Given the description of an element on the screen output the (x, y) to click on. 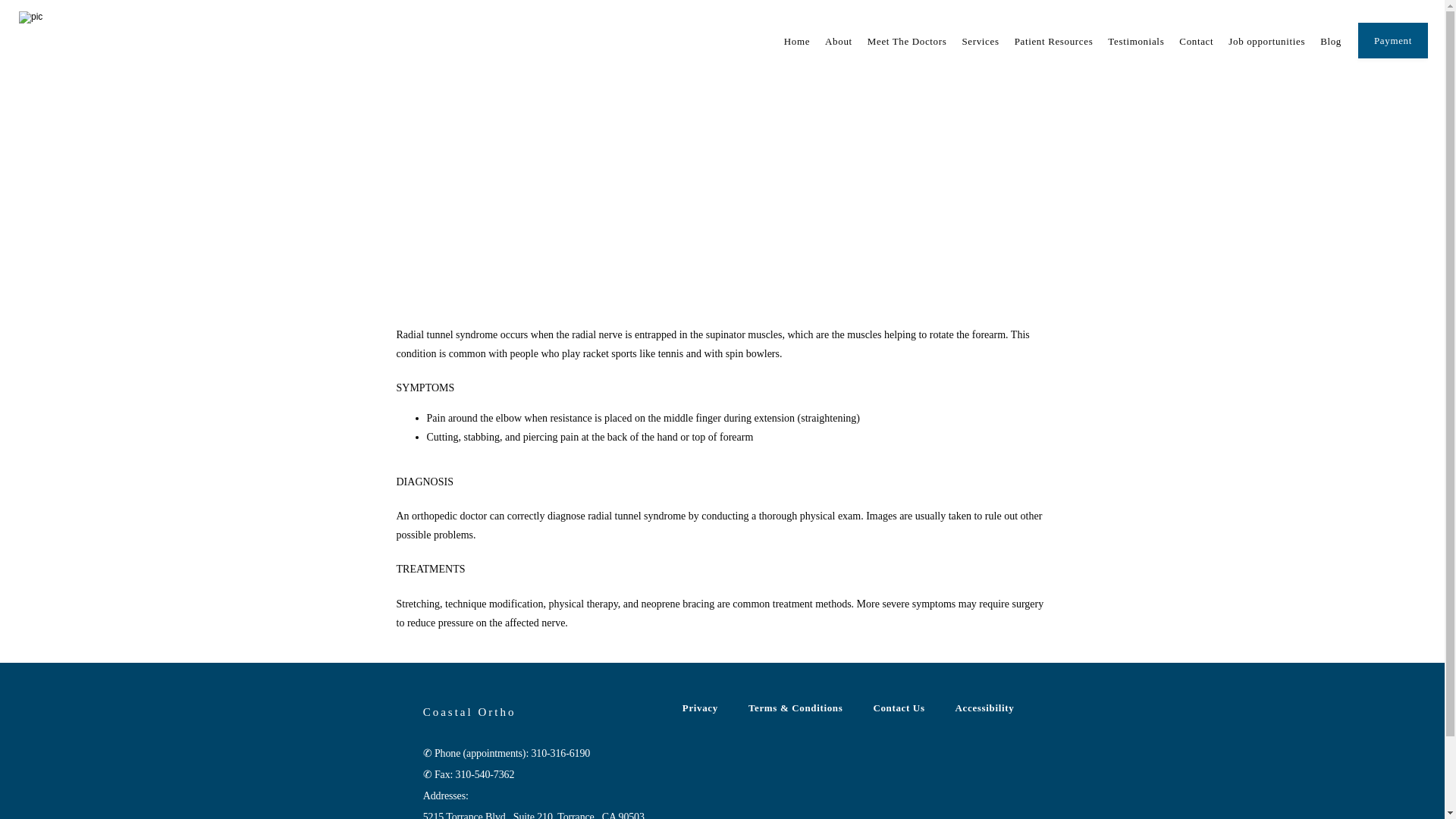
About (838, 41)
Meet The Doctors (907, 41)
Home (796, 41)
Services (979, 41)
